Given the description of an element on the screen output the (x, y) to click on. 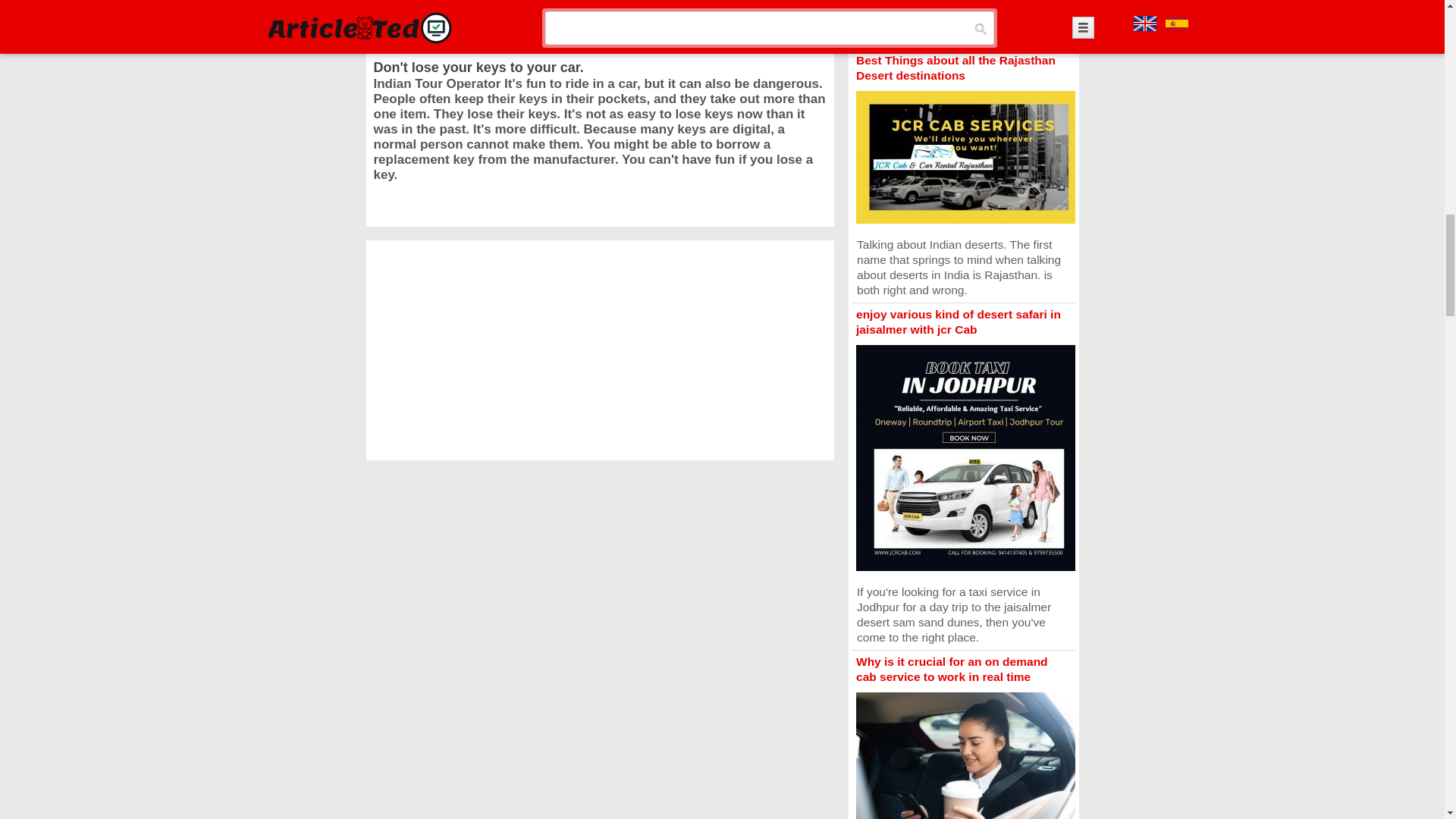
Best Things about all the Rajasthan Desert destinations (955, 67)
